Given the description of an element on the screen output the (x, y) to click on. 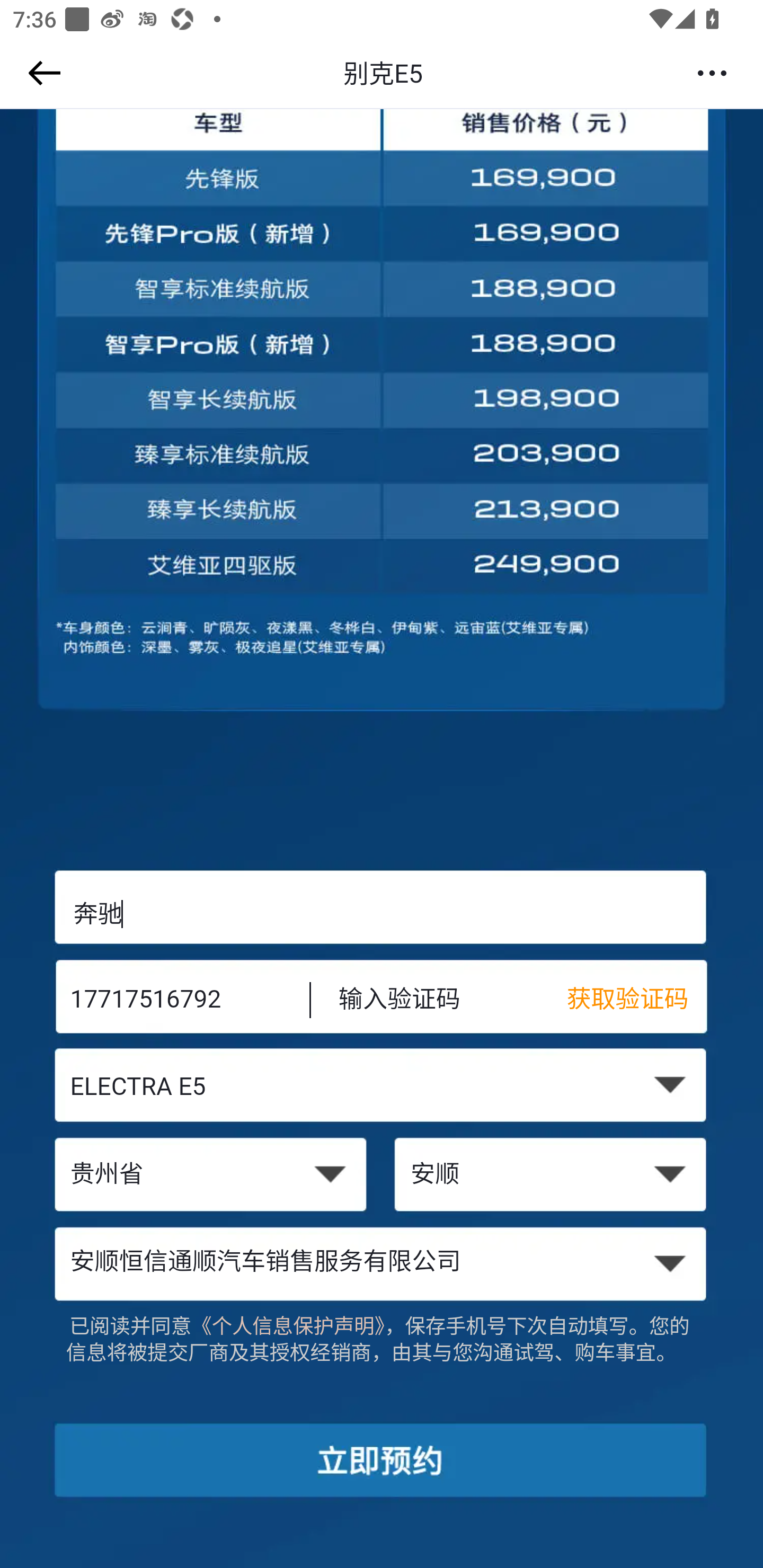
 (41, 72)
奔驰 (381, 912)
17717516792 (176, 1001)
获取验证码 (637, 1001)
ELECTRA E5 (381, 1088)
贵州省 (210, 1175)
安顺 (552, 1175)
安顺恒信通顺汽车销售服务有限公司 (381, 1262)
